Given the description of an element on the screen output the (x, y) to click on. 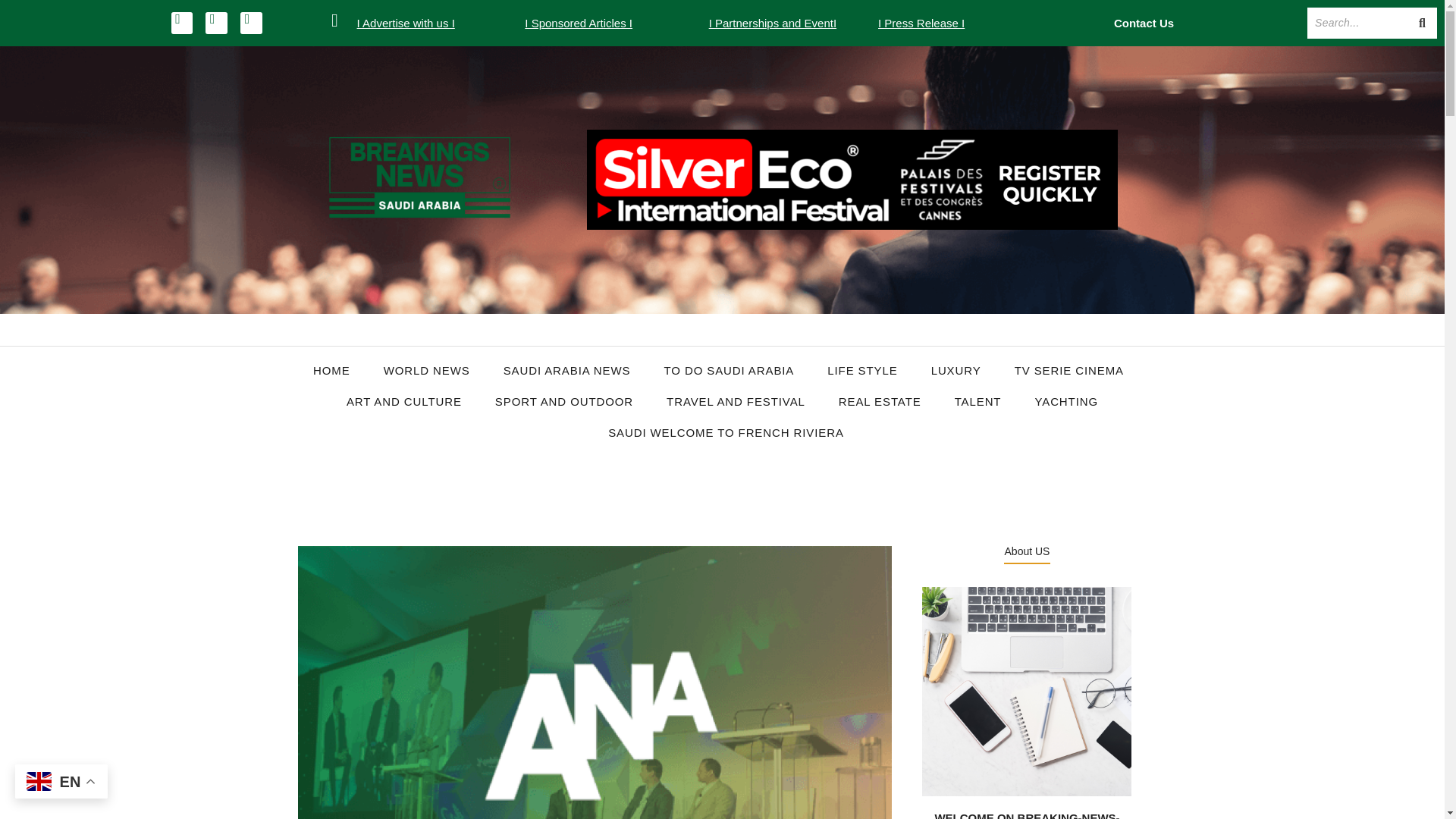
I Sponsored Articles I (577, 22)
TV SERIE CINEMA (1069, 369)
SPORT AND OUTDOOR (564, 401)
ART AND CULTURE (403, 401)
Silver Eco International Festival (852, 179)
TO DO SAUDI ARABIA (728, 369)
I Advertise with us I (405, 22)
LUXURY (955, 369)
Search (1357, 22)
TALENT (977, 401)
